Given the description of an element on the screen output the (x, y) to click on. 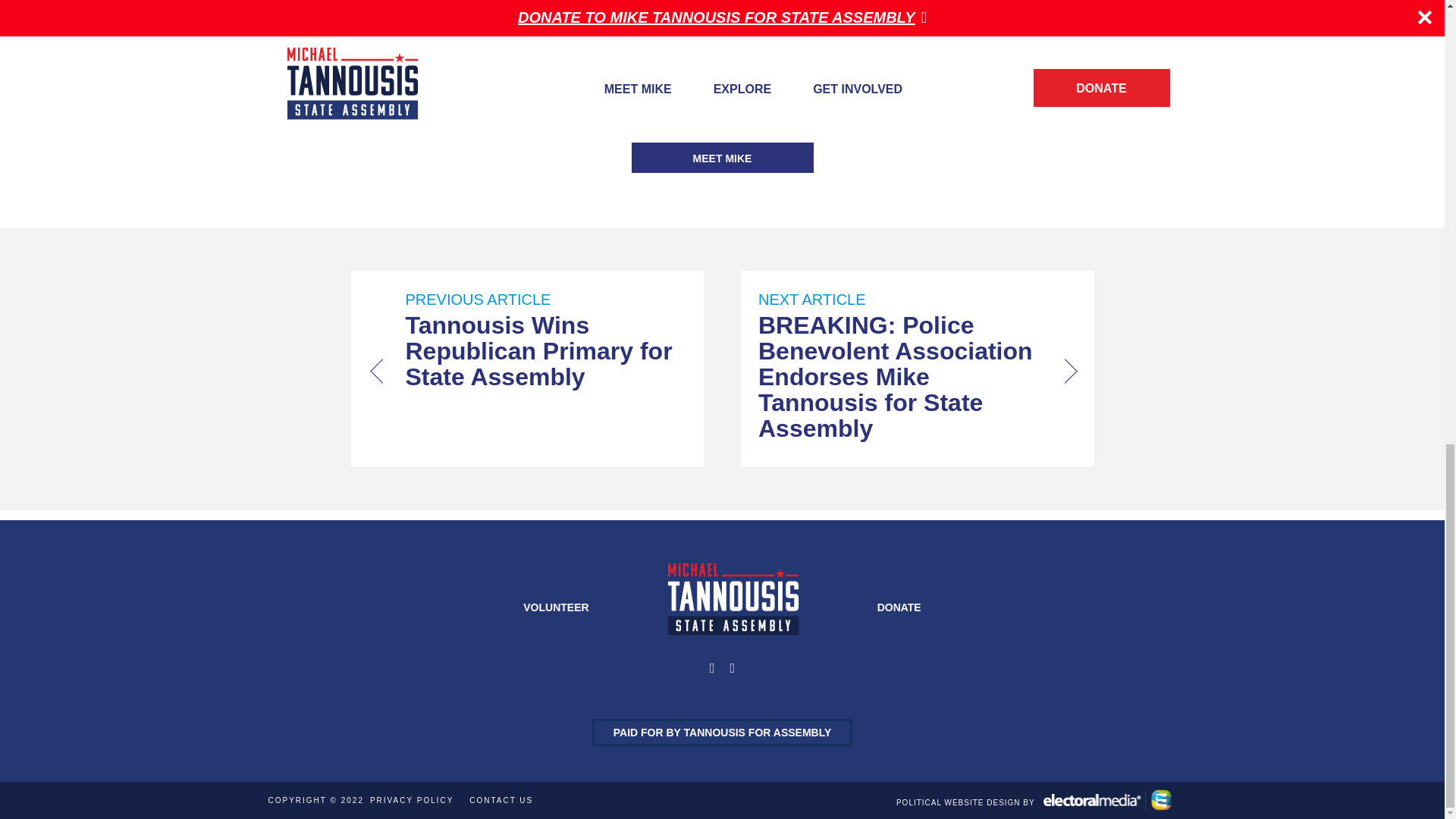
MEET MIKE (721, 157)
VOLUNTEER (555, 607)
DONATE (899, 607)
